Given the description of an element on the screen output the (x, y) to click on. 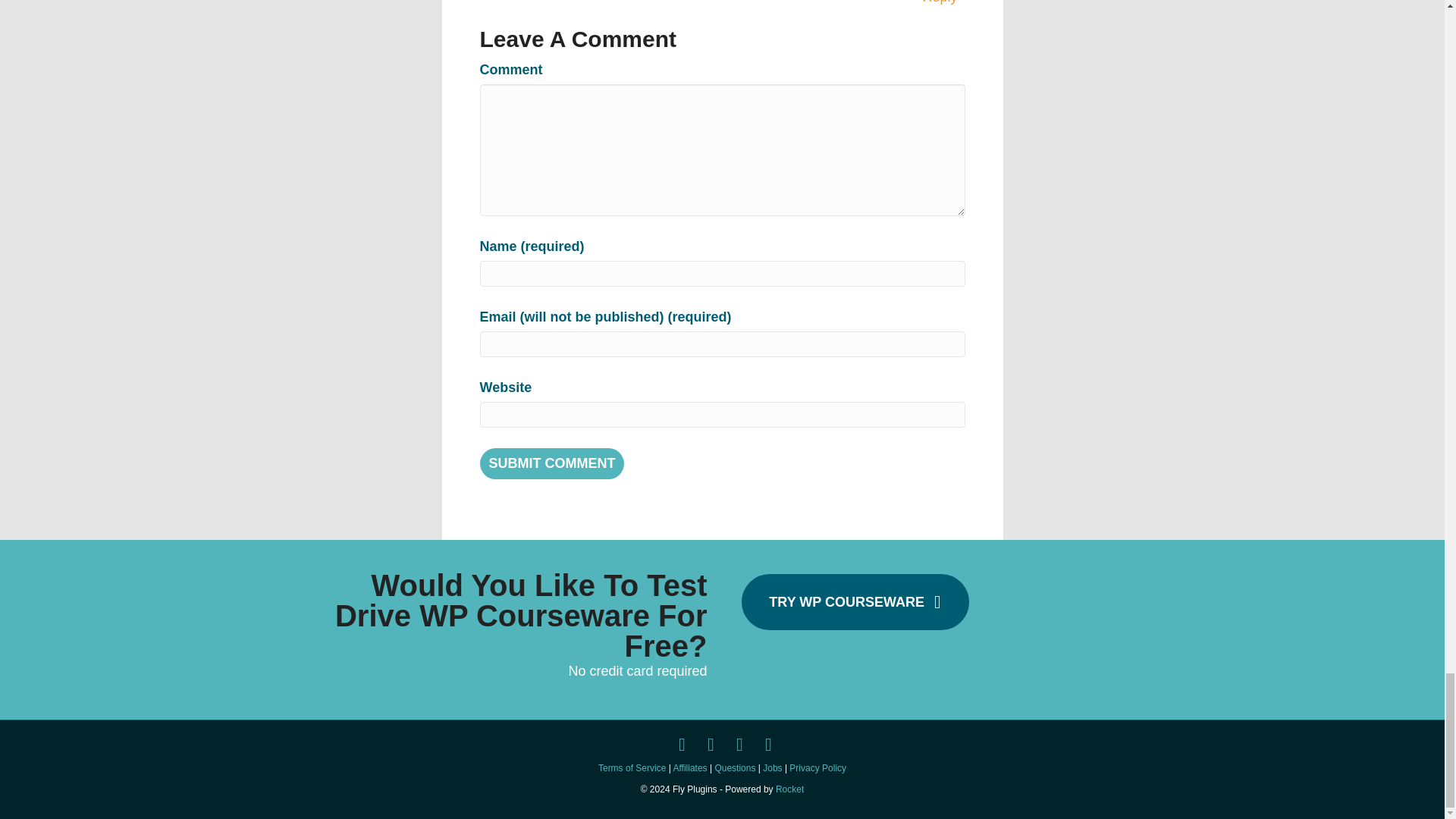
Submit Comment (551, 463)
Reply (939, 4)
TRY WP COURSEWARE (855, 601)
Submit Comment (551, 463)
